Given the description of an element on the screen output the (x, y) to click on. 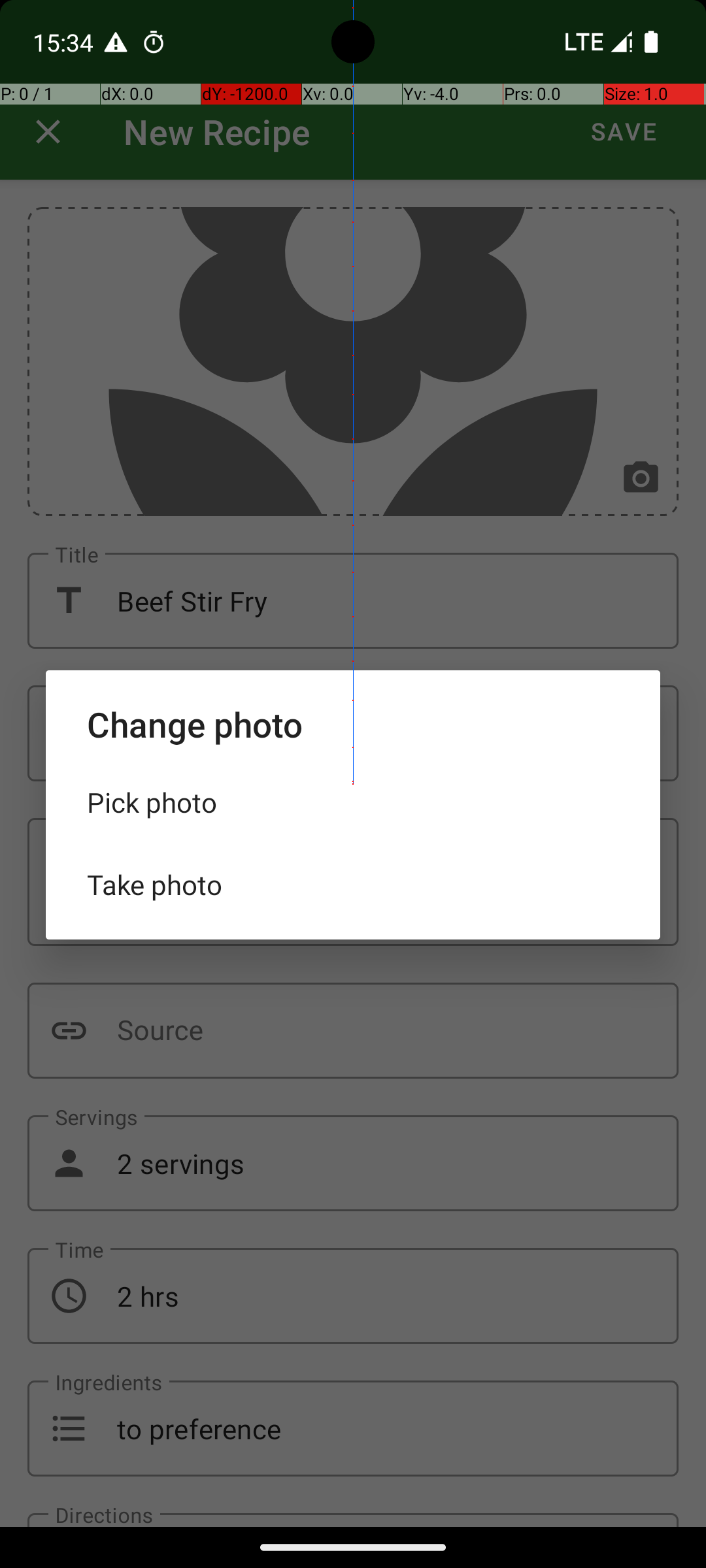
Change photo Element type: android.widget.TextView (352, 724)
Pick photo Element type: android.widget.TextView (352, 802)
Take photo Element type: android.widget.TextView (352, 884)
